Given the description of an element on the screen output the (x, y) to click on. 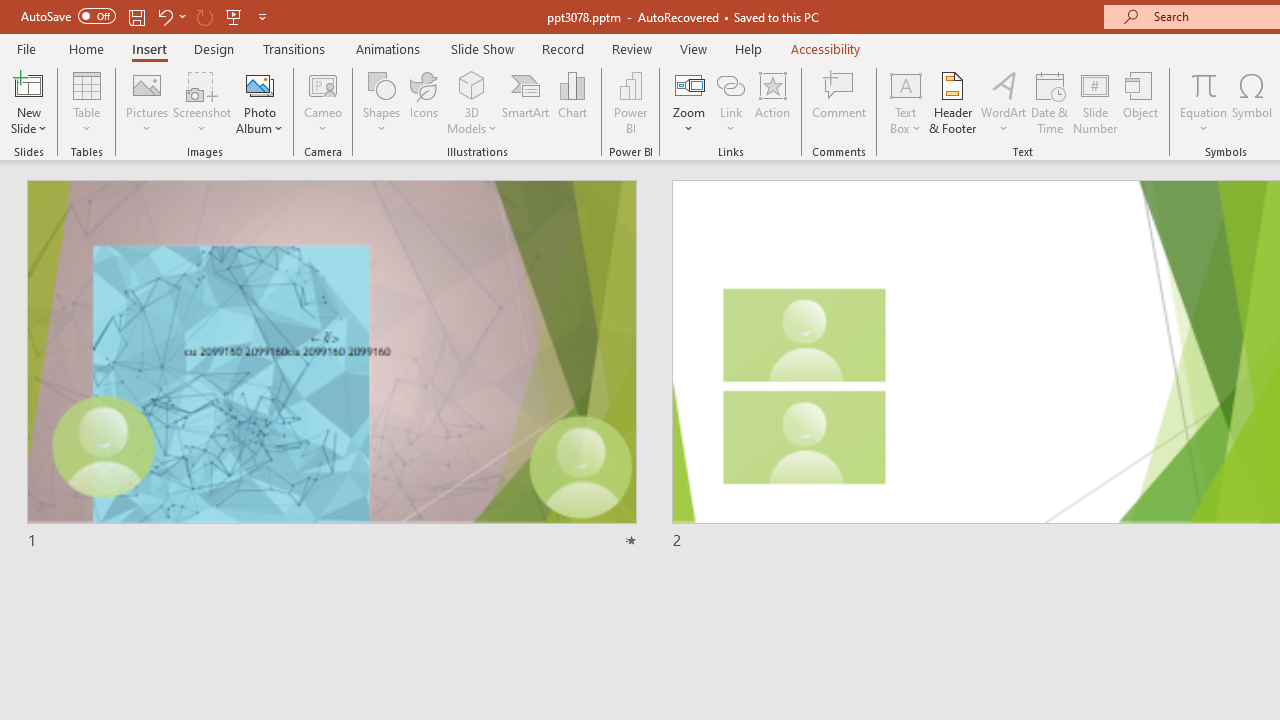
Comment (839, 102)
3D Models (472, 102)
Slide Number (1095, 102)
Table (86, 102)
Symbol... (1252, 102)
Equation (1203, 84)
